Given the description of an element on the screen output the (x, y) to click on. 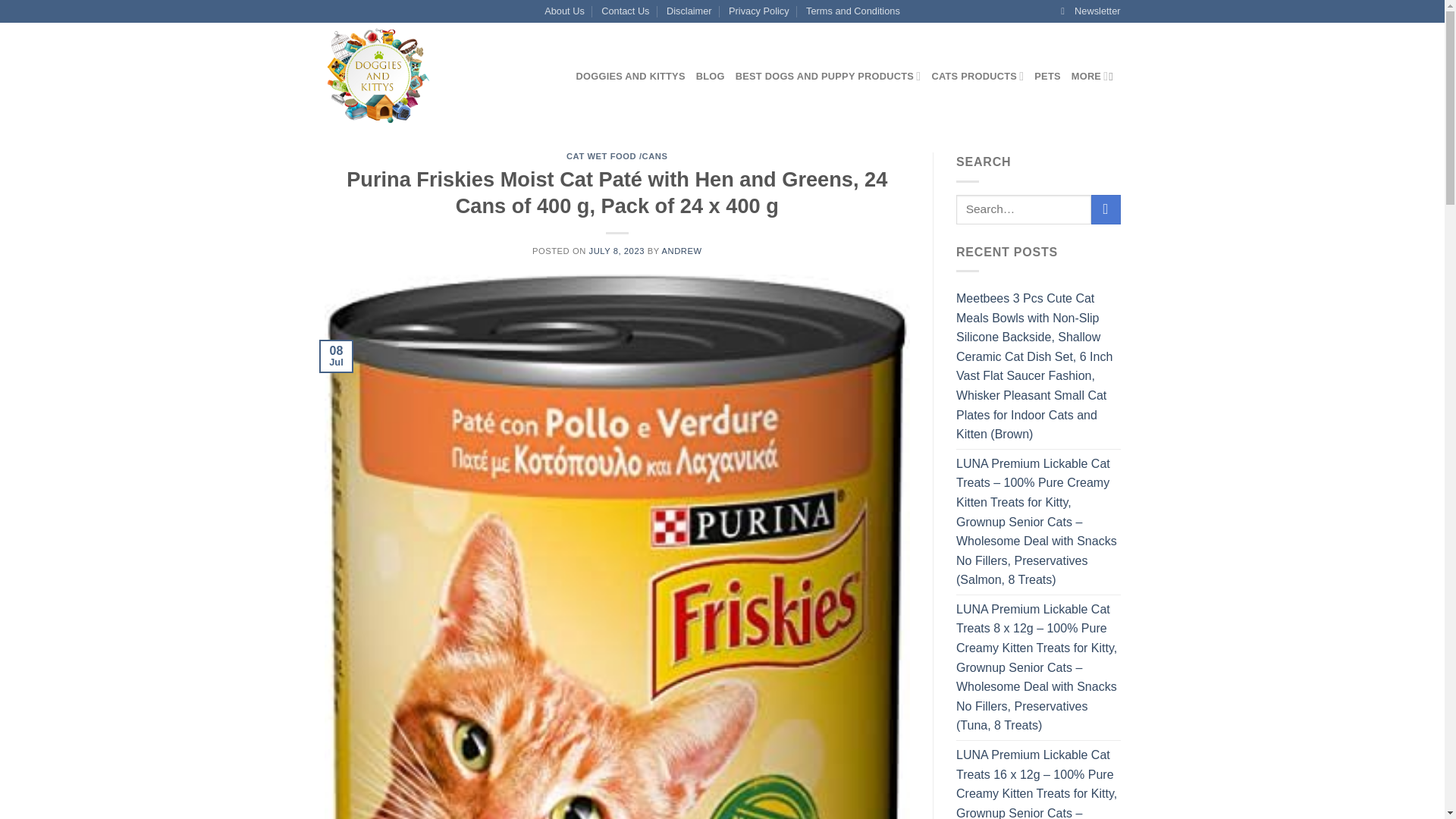
doggiesandkittys (438, 75)
PETS (1046, 75)
Privacy Policy (759, 11)
Disclaimer (688, 11)
BEST DOGS AND PUPPY PRODUCTS (828, 75)
DOGGIES AND KITTYS (630, 75)
BLOG (710, 75)
Sign up for Newsletter (1090, 11)
MORE (1089, 75)
Contact Us (625, 11)
CATS PRODUCTS (977, 75)
About Us (564, 11)
Newsletter (1090, 11)
Terms and Conditions (852, 11)
